Given the description of an element on the screen output the (x, y) to click on. 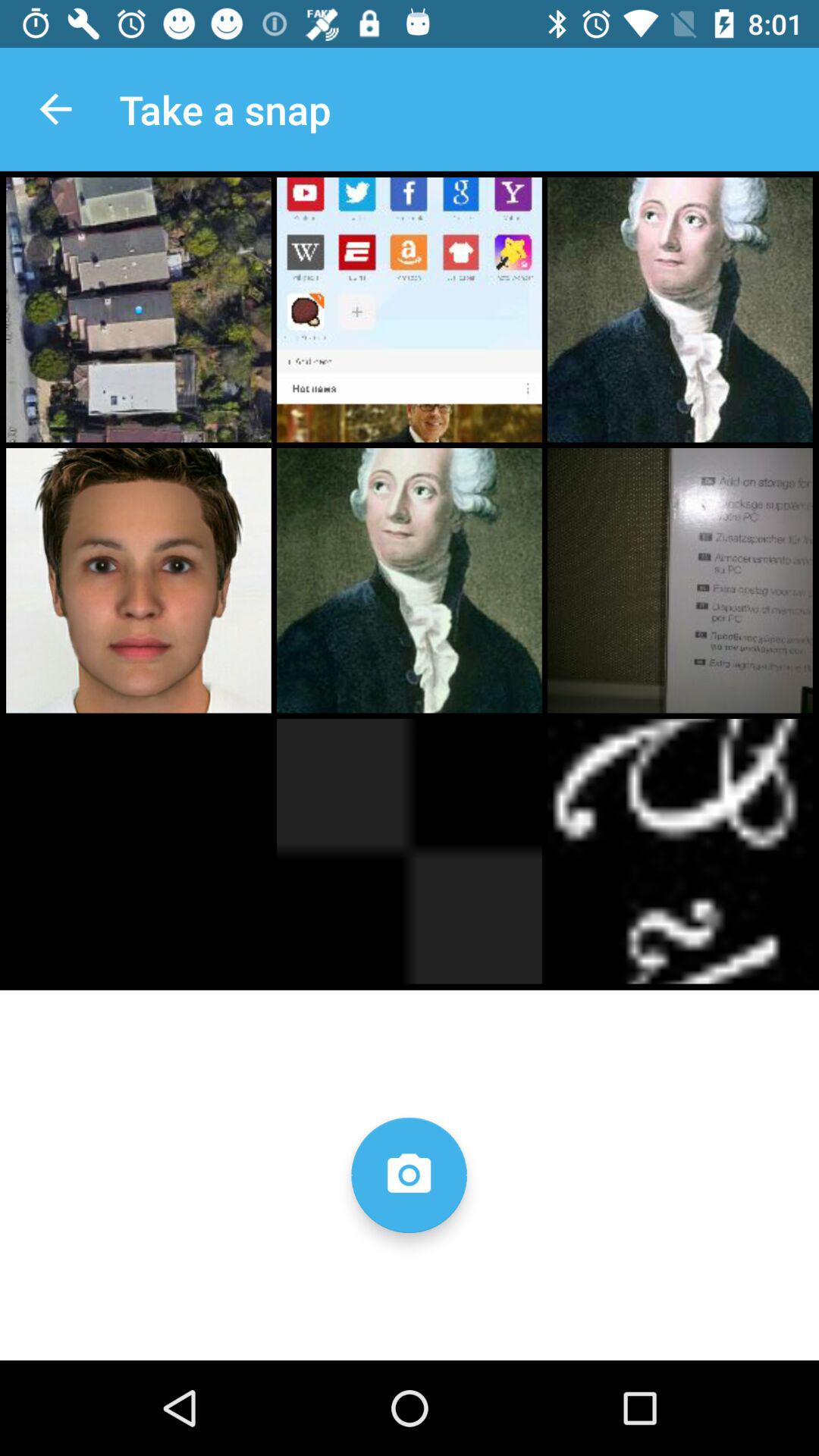
take a picture (408, 1175)
